Given the description of an element on the screen output the (x, y) to click on. 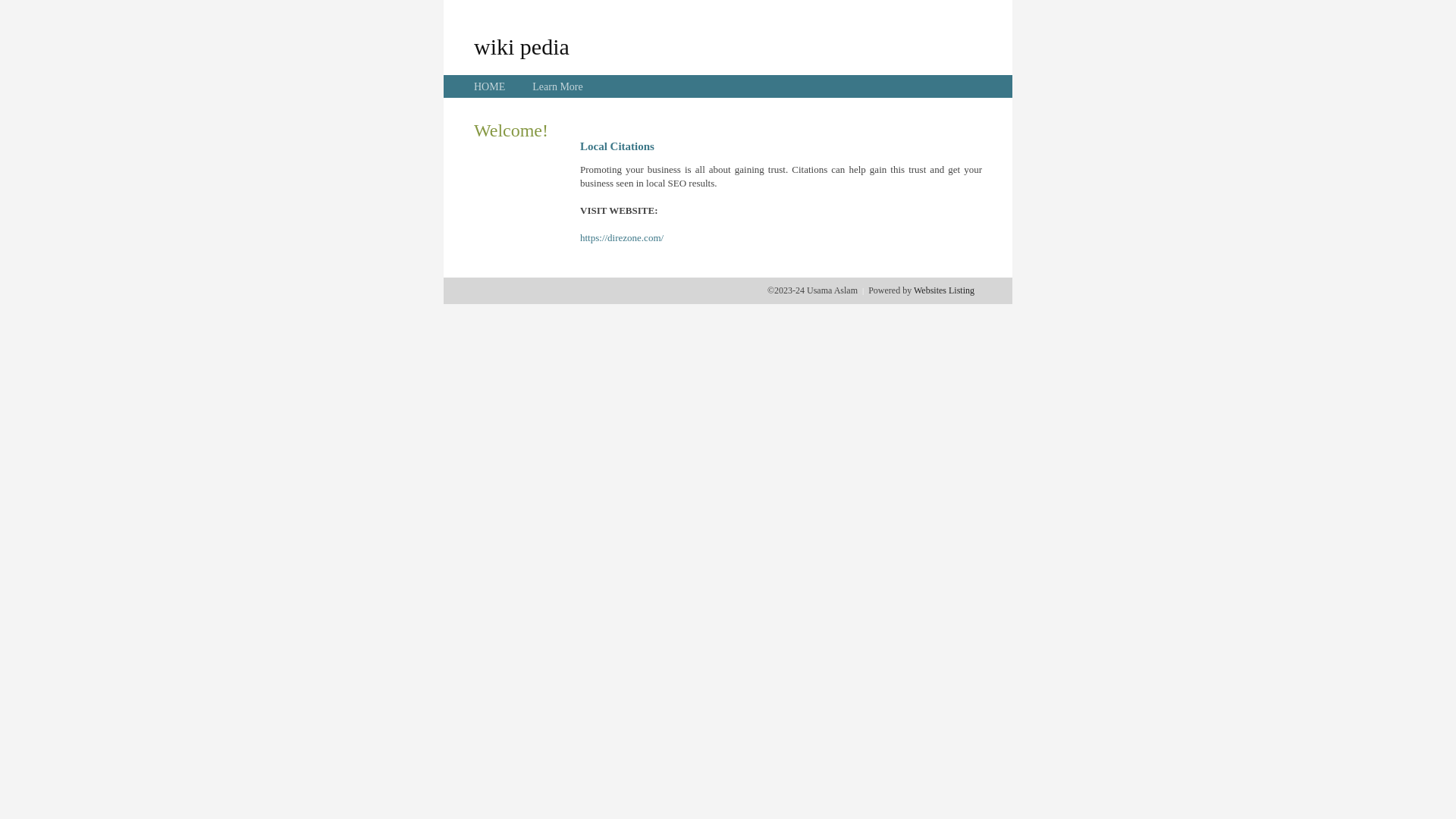
wiki pedia Element type: text (521, 46)
HOME Element type: text (489, 86)
Websites Listing Element type: text (943, 290)
https://direzone.com/ Element type: text (621, 237)
Learn More Element type: text (557, 86)
